Given the description of an element on the screen output the (x, y) to click on. 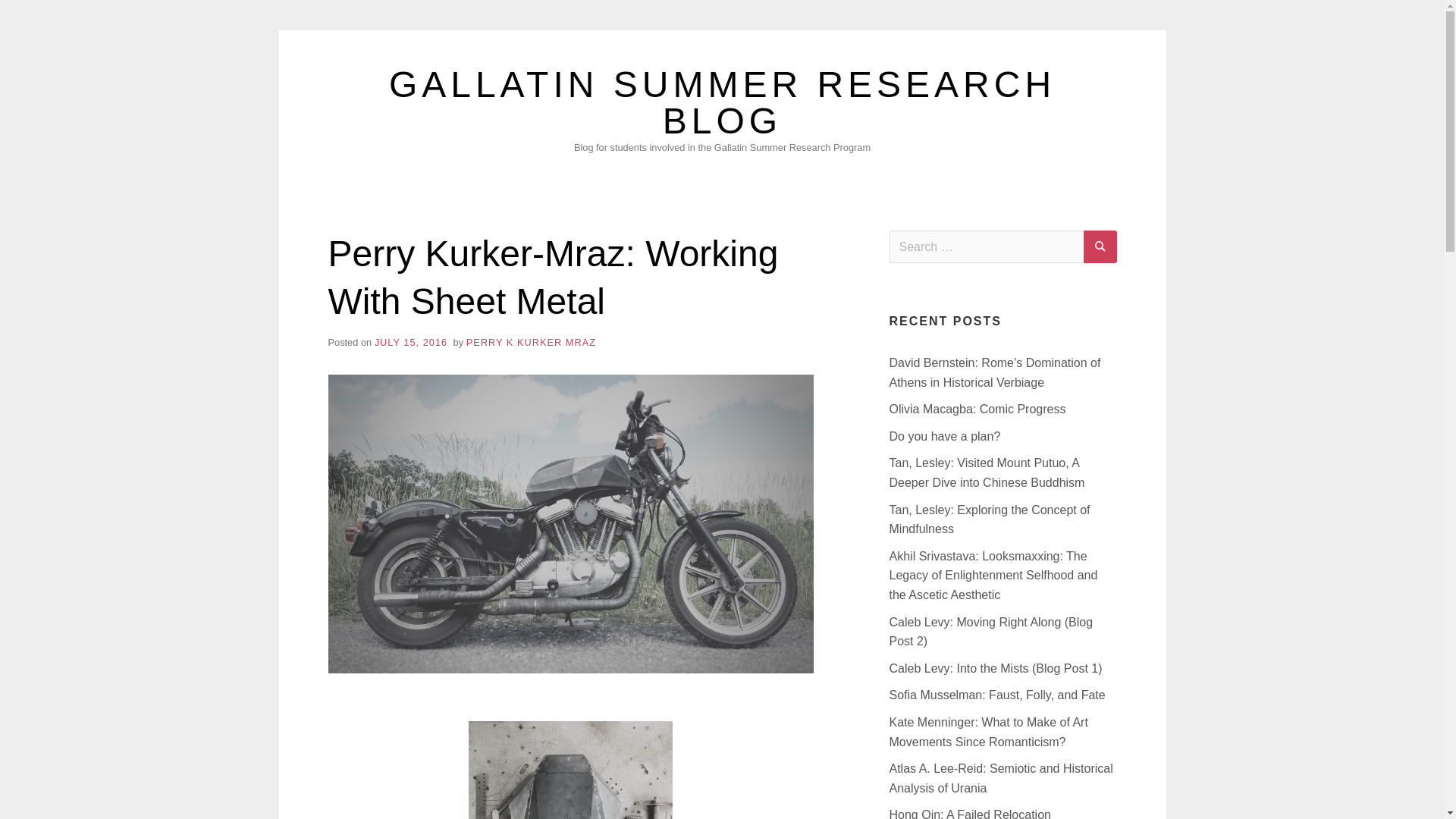
GALLATIN SUMMER RESEARCH BLOG (721, 102)
JULY 15, 2016 (410, 342)
Search (1099, 246)
Sofia Musselman: Faust, Folly, and Fate (996, 694)
PERRY K KURKER MRAZ (530, 342)
Olivia Macagba: Comic Progress (976, 408)
Tan, Lesley: Exploring the Concept of Mindfulness (988, 519)
Hong Qin; A Failed Relocation (968, 813)
Do you have a plan? (944, 436)
